Given the description of an element on the screen output the (x, y) to click on. 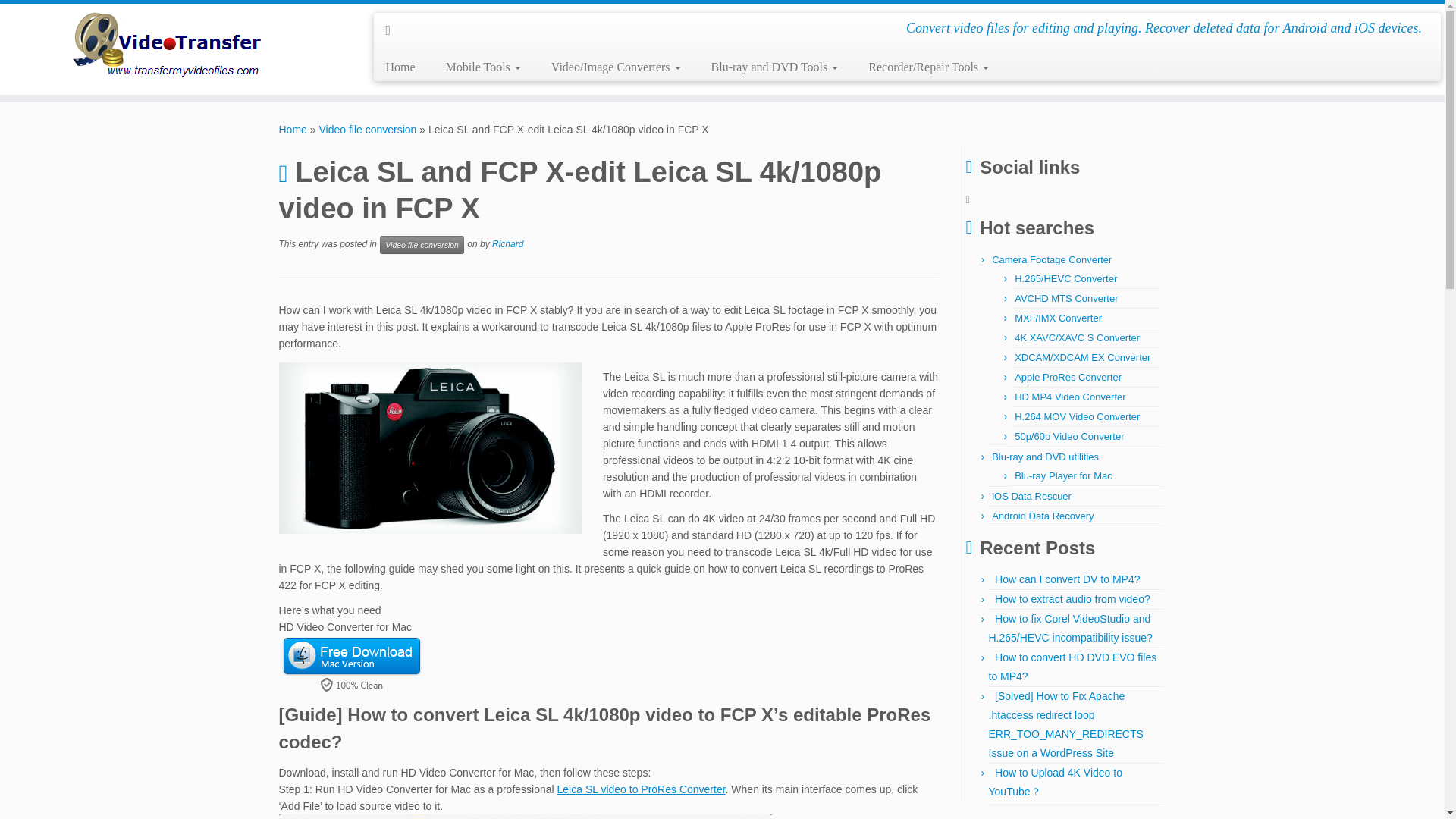
Follow us on Rss (392, 29)
View all posts in Video file conversion (422, 244)
Mobile Tools (482, 67)
View all posts by Richard (507, 244)
Video file conversion (367, 129)
Video file conversion (422, 244)
Leica SL video to ProRes Converter (641, 788)
Home (293, 129)
Blu-ray and DVD Tools (774, 67)
Home (405, 67)
Video file conversion (367, 129)
Video Transfer (293, 129)
Richard (507, 244)
